Given the description of an element on the screen output the (x, y) to click on. 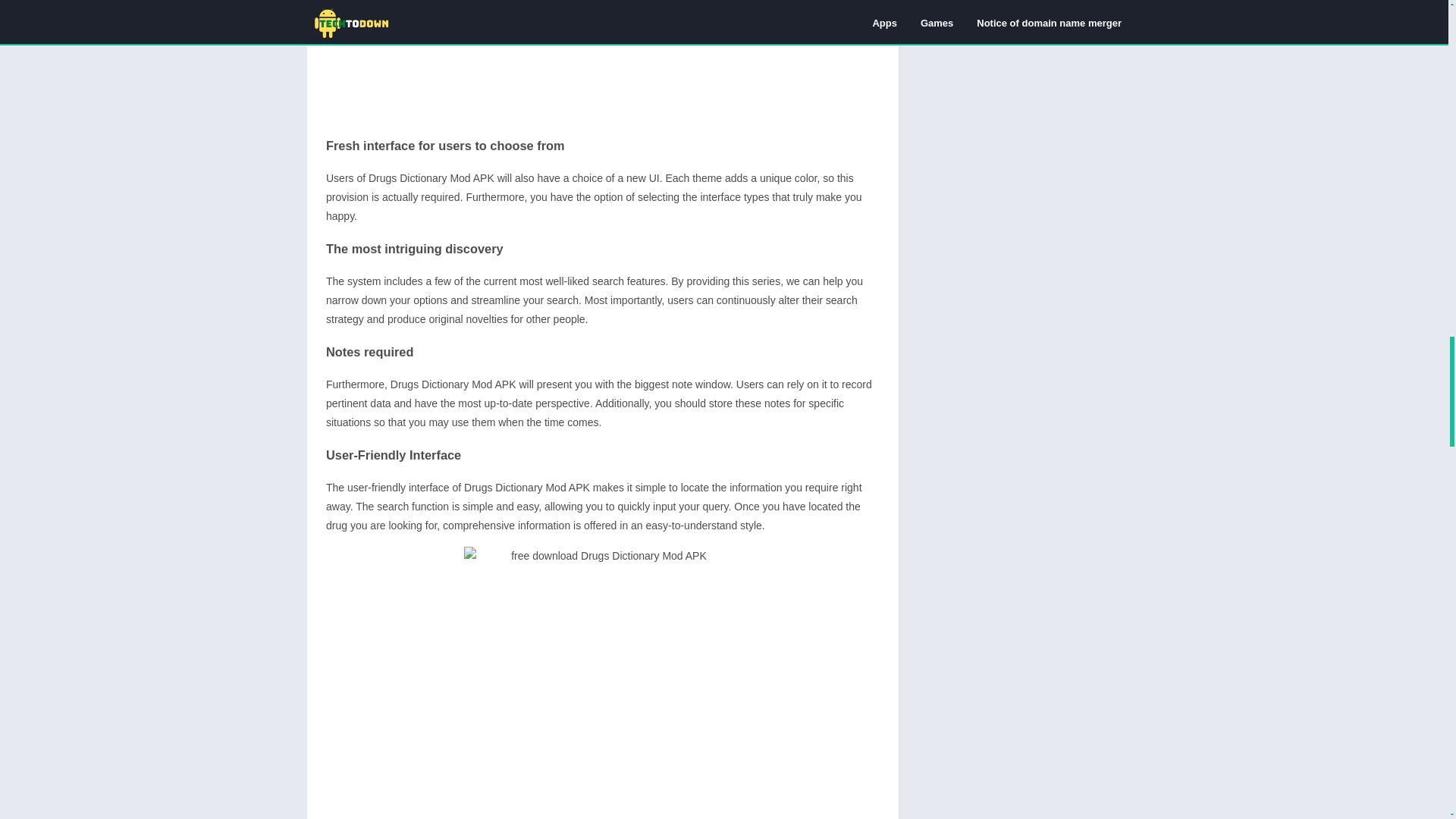
Drugs Dictionary OFFLINE 3 (603, 61)
Drugs Dictionary OFFLINE 4 (602, 683)
